Given the description of an element on the screen output the (x, y) to click on. 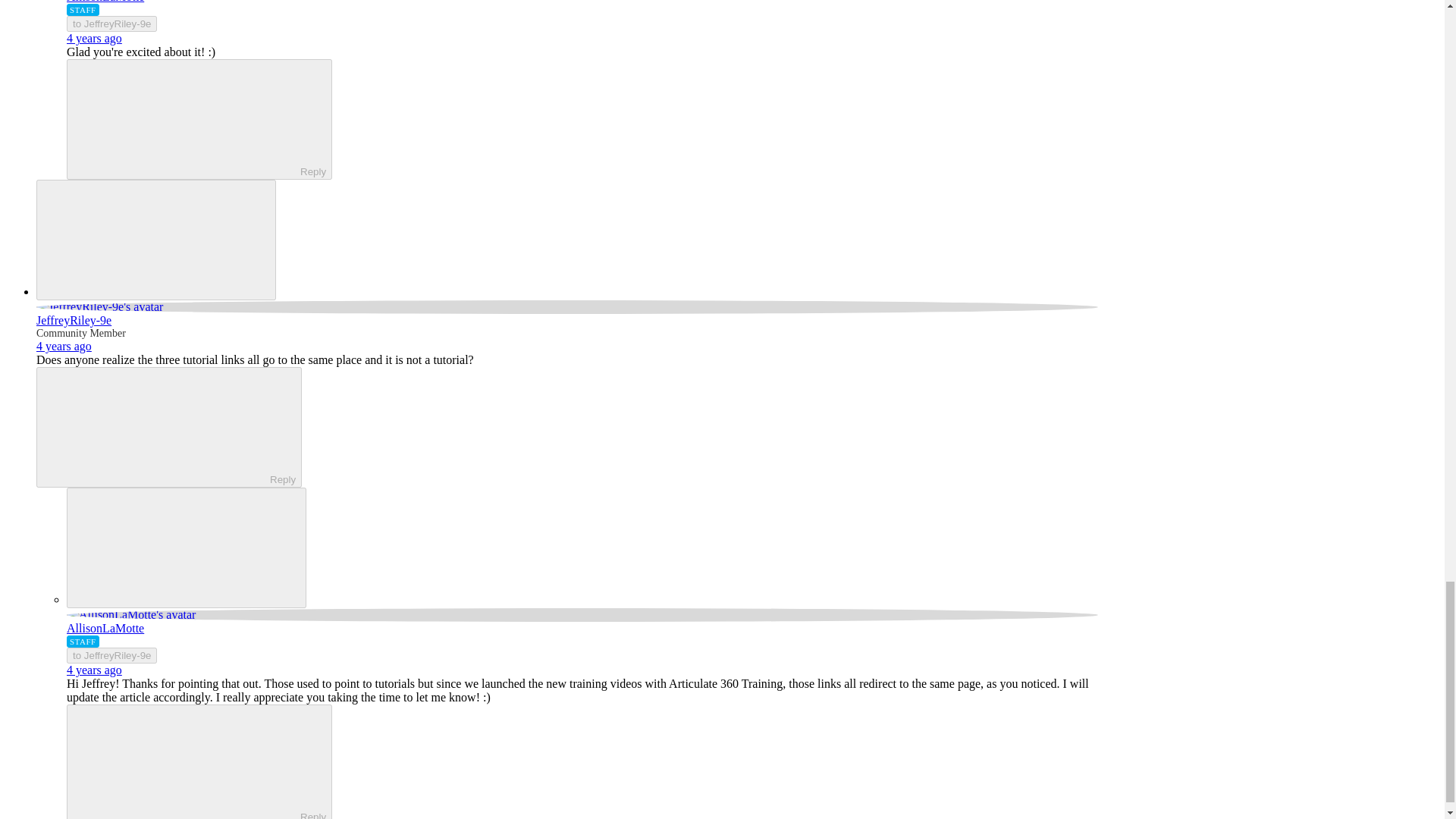
Reply (185, 118)
October 14, 2020 at 2:15 PM (94, 38)
October 13, 2020 at 4:55 PM (63, 345)
October 14, 2020 at 2:15 PM (94, 669)
Reply (155, 426)
